Given the description of an element on the screen output the (x, y) to click on. 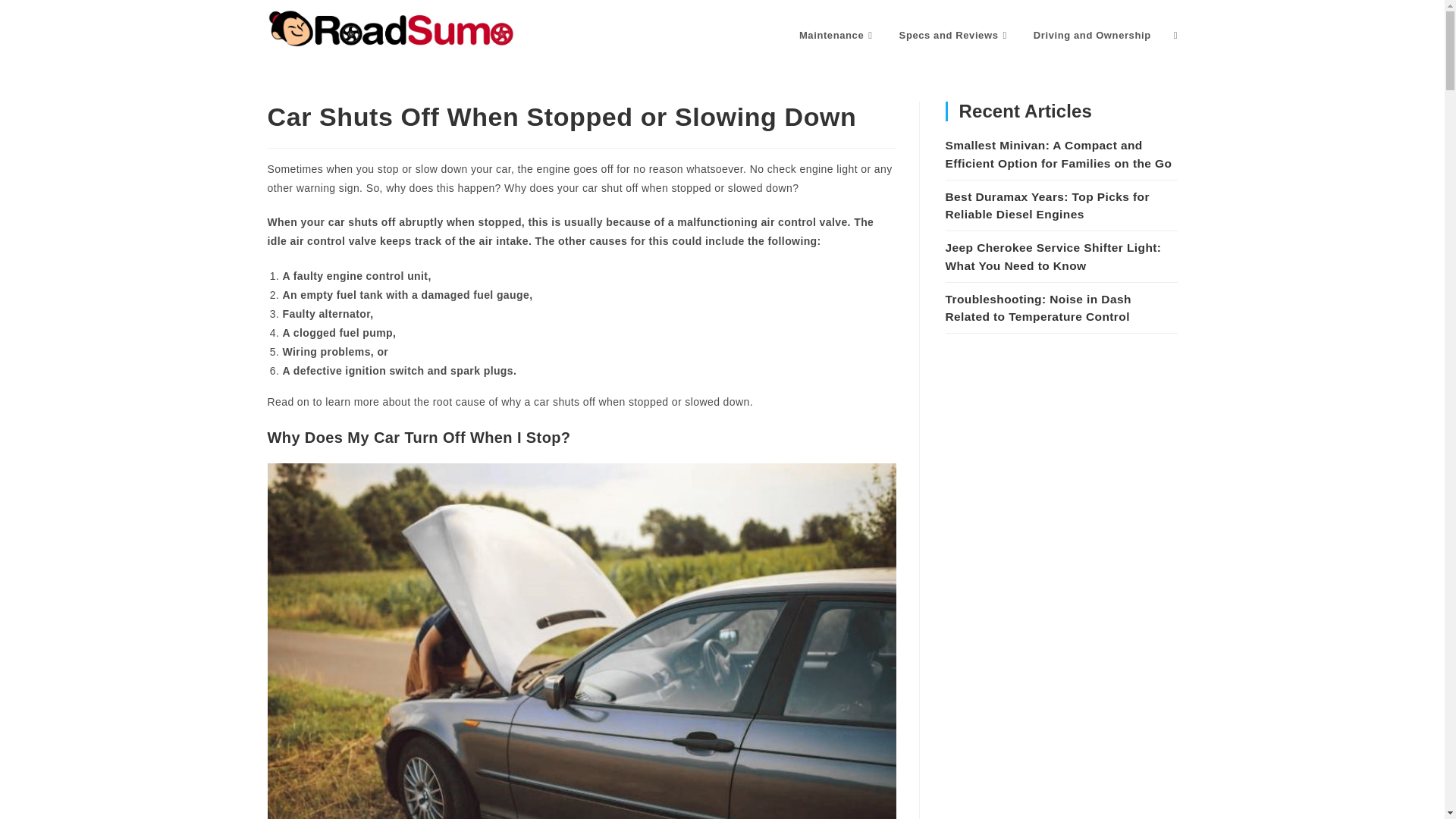
Maintenance (837, 35)
Specs and Reviews (955, 35)
Driving and Ownership (1091, 35)
